Given the description of an element on the screen output the (x, y) to click on. 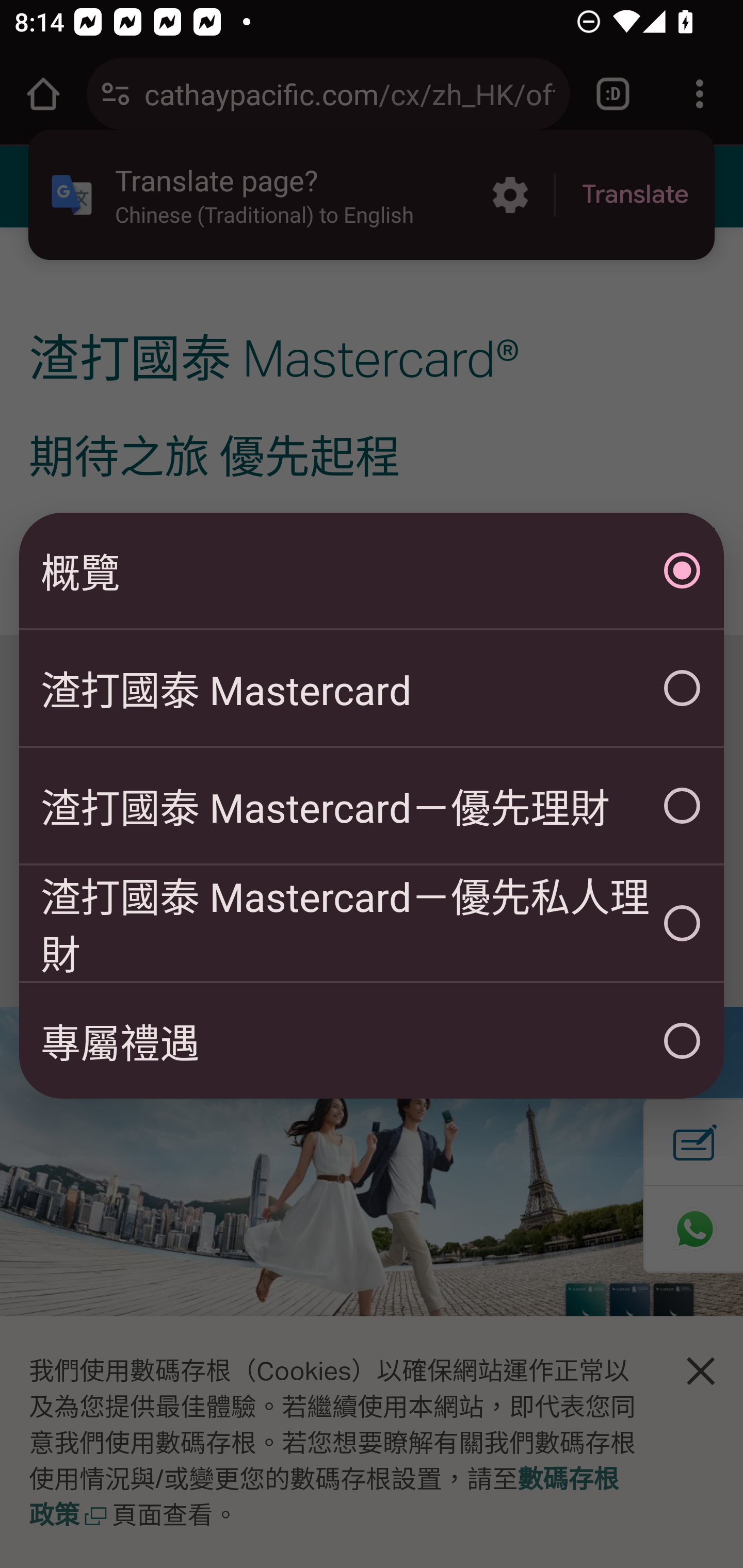
概覽 (371, 570)
渣打國泰 Mastercard (371, 688)
渣打國泰 Mastercard－優先理財 (371, 805)
渣打國泰 Mastercard－優先私人理財 (371, 923)
專屬禮遇 (371, 1041)
